Given the description of an element on the screen output the (x, y) to click on. 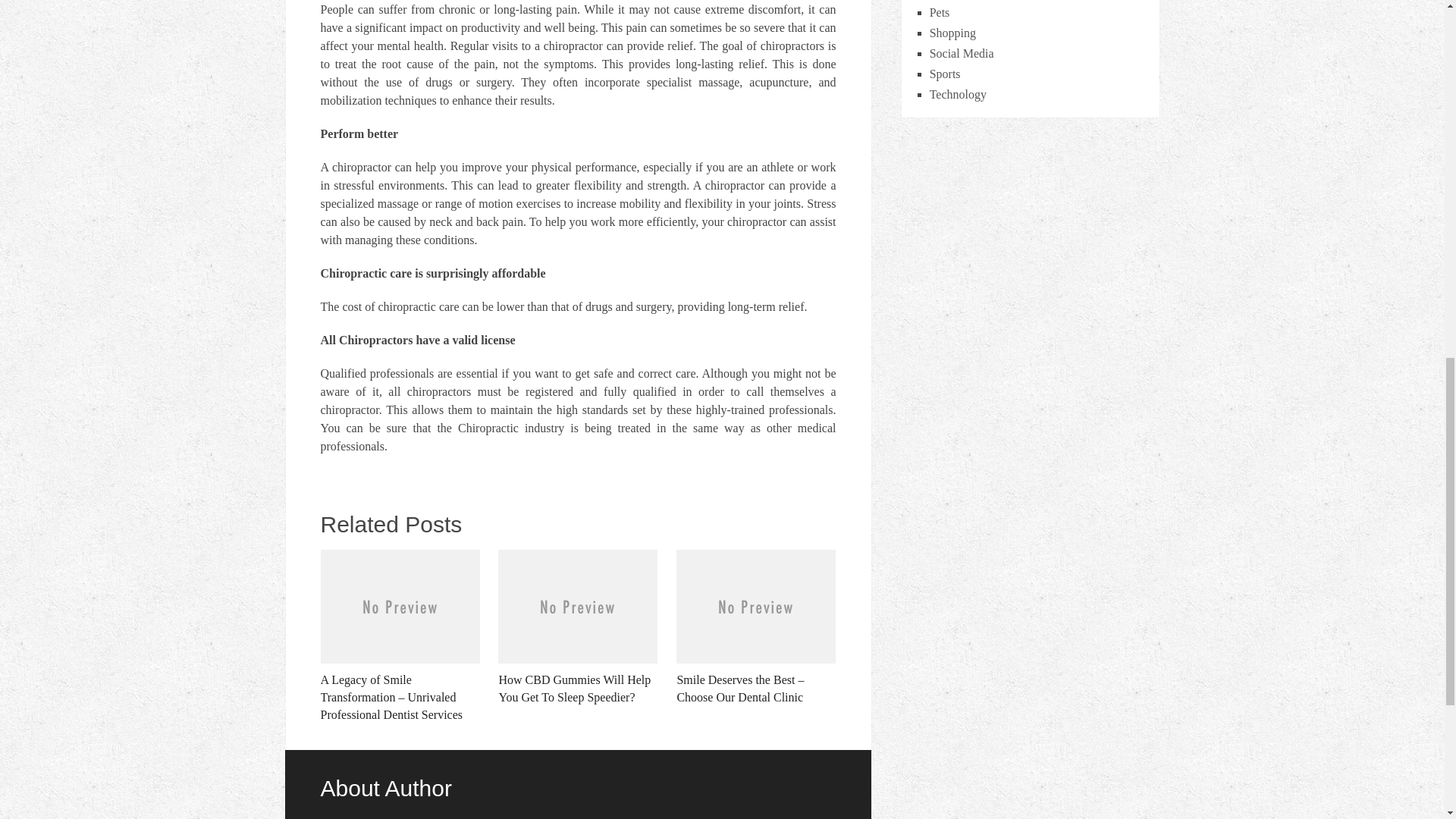
How CBD Gummies Will Help You Get To Sleep Speedier? (577, 627)
Technology (958, 93)
Pets (940, 11)
How CBD Gummies Will Help You Get To Sleep Speedier? (577, 627)
Sports (945, 73)
Shopping (952, 32)
Social Media (962, 52)
